Given the description of an element on the screen output the (x, y) to click on. 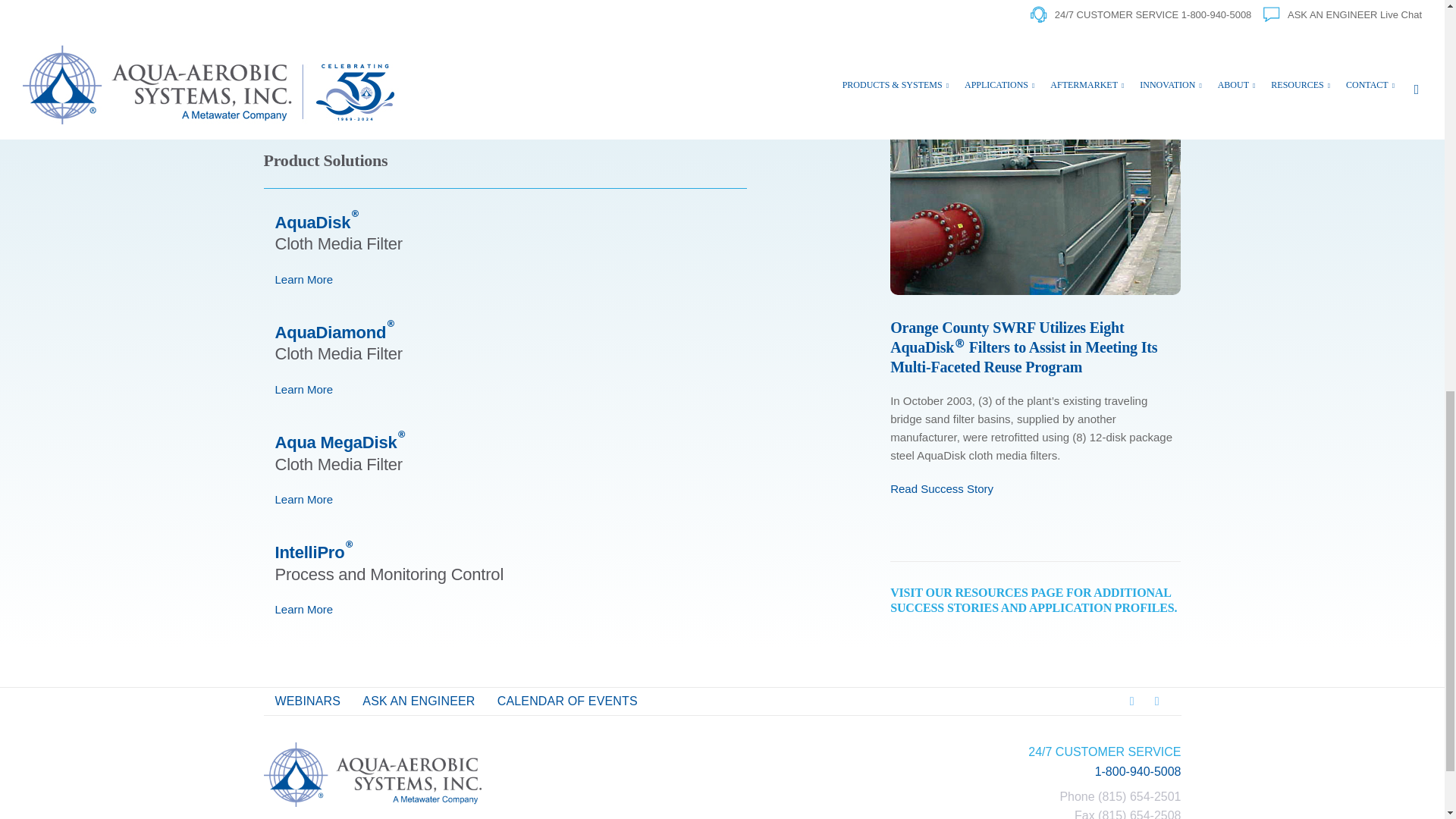
orange-county-aquadisk (1034, 198)
